Given the description of an element on the screen output the (x, y) to click on. 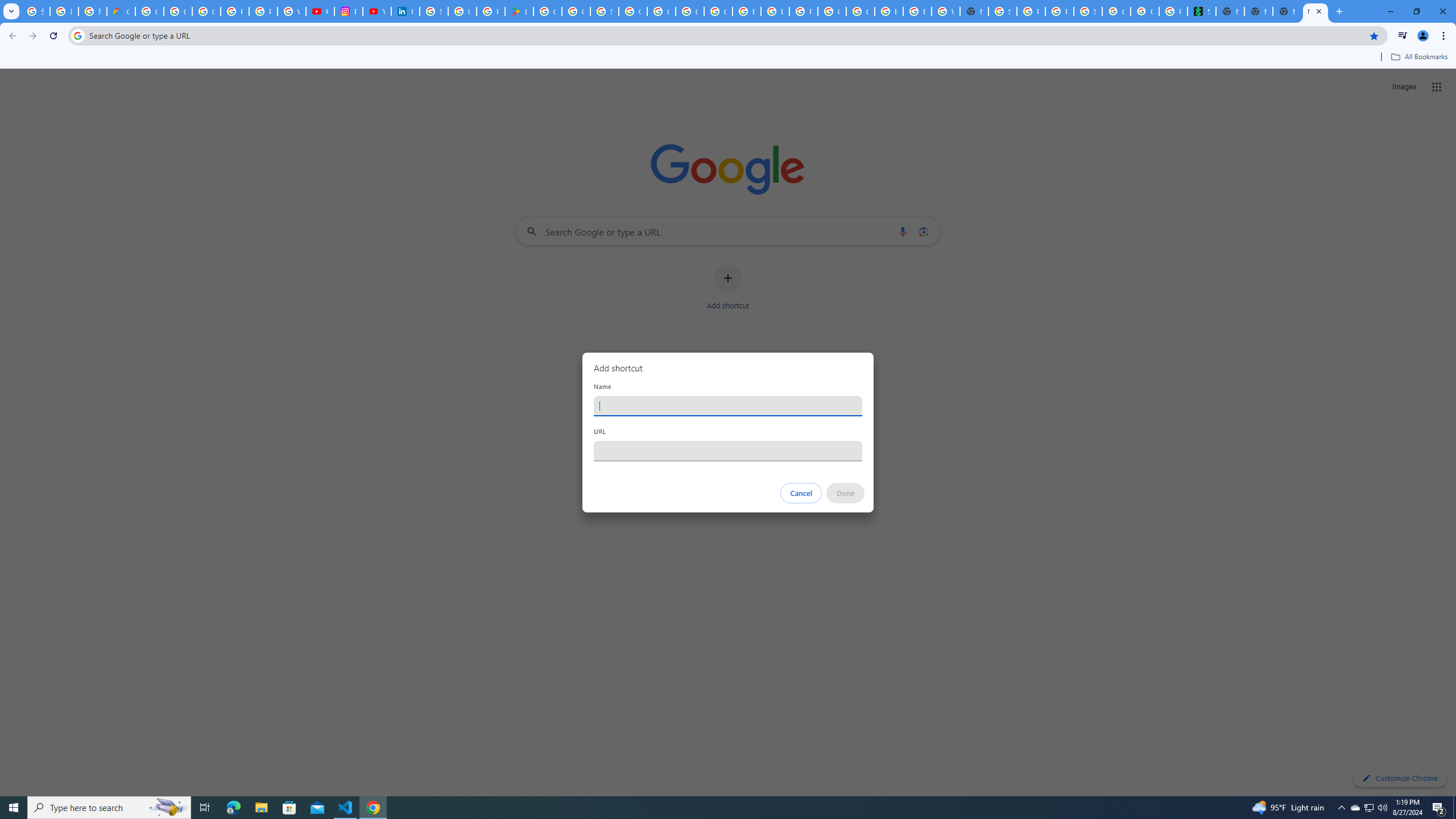
Browse Chrome as a guest - Computer - Google Chrome Help (746, 11)
